Given the description of an element on the screen output the (x, y) to click on. 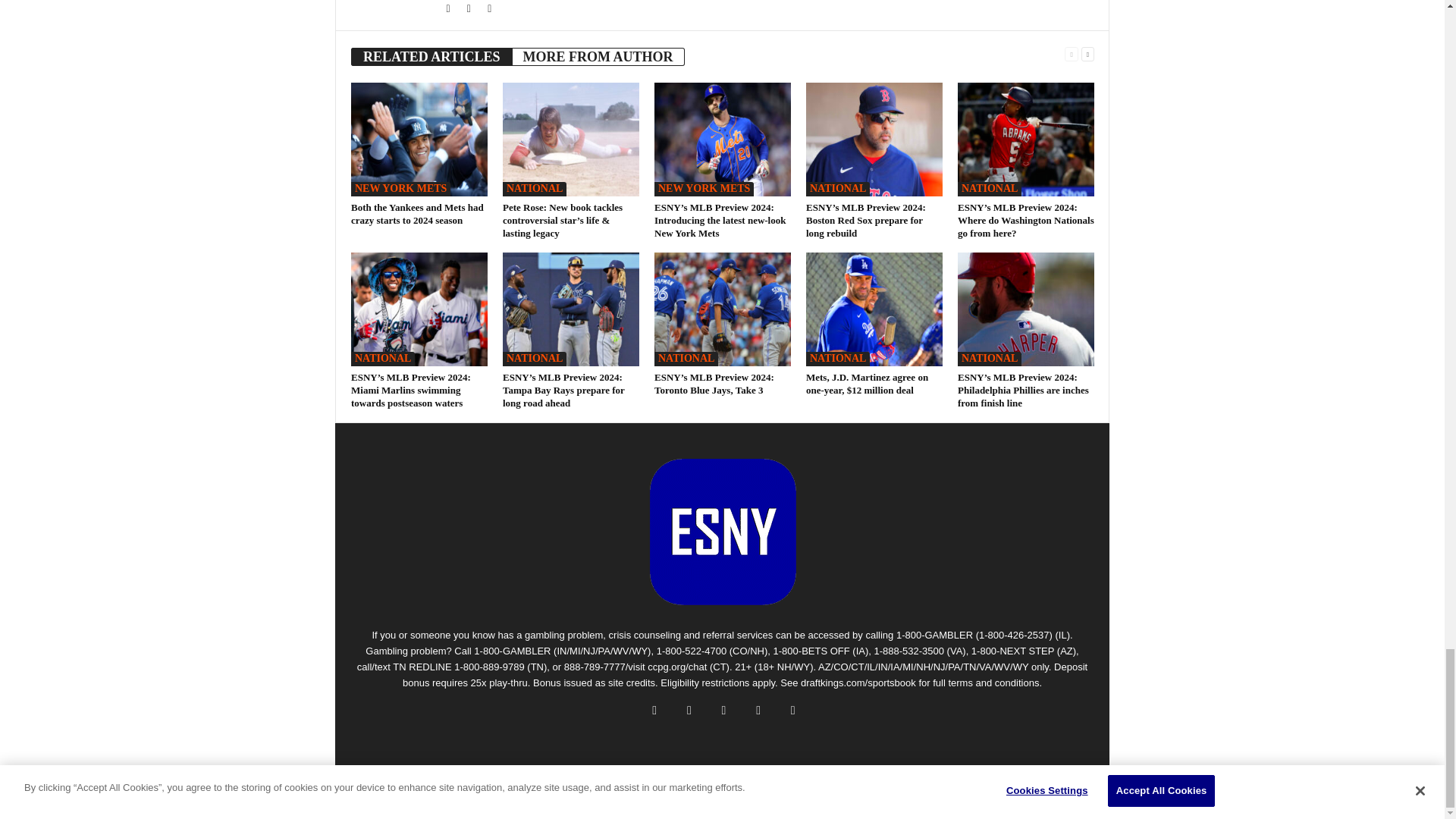
Twitter (449, 9)
Instagram (470, 9)
Both the Yankees and Mets had crazy starts to 2024 season (418, 139)
Linkedin (489, 9)
Both the Yankees and Mets had crazy starts to 2024 season (416, 213)
